Given the description of an element on the screen output the (x, y) to click on. 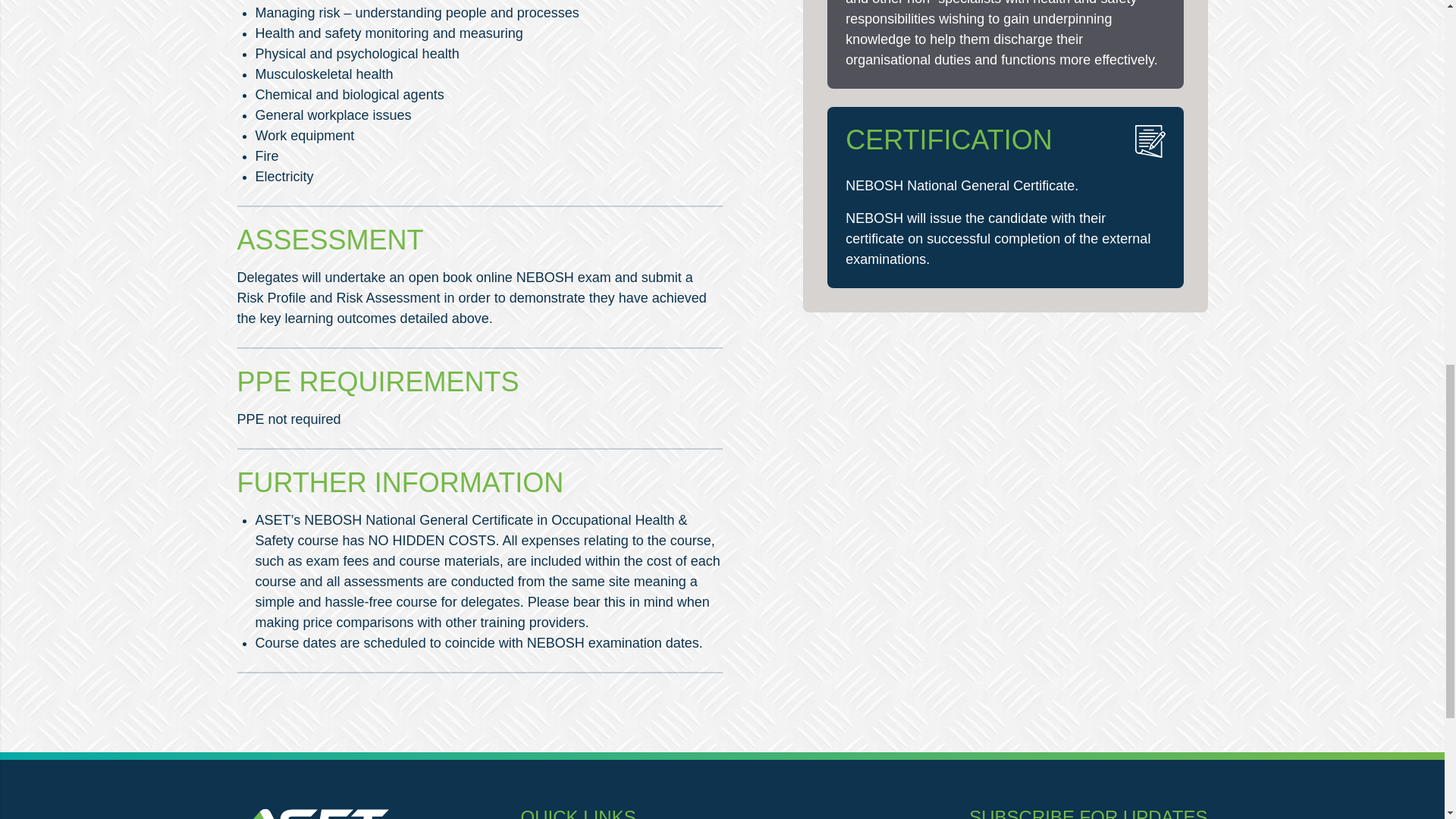
ASET Homepage (311, 813)
